Given the description of an element on the screen output the (x, y) to click on. 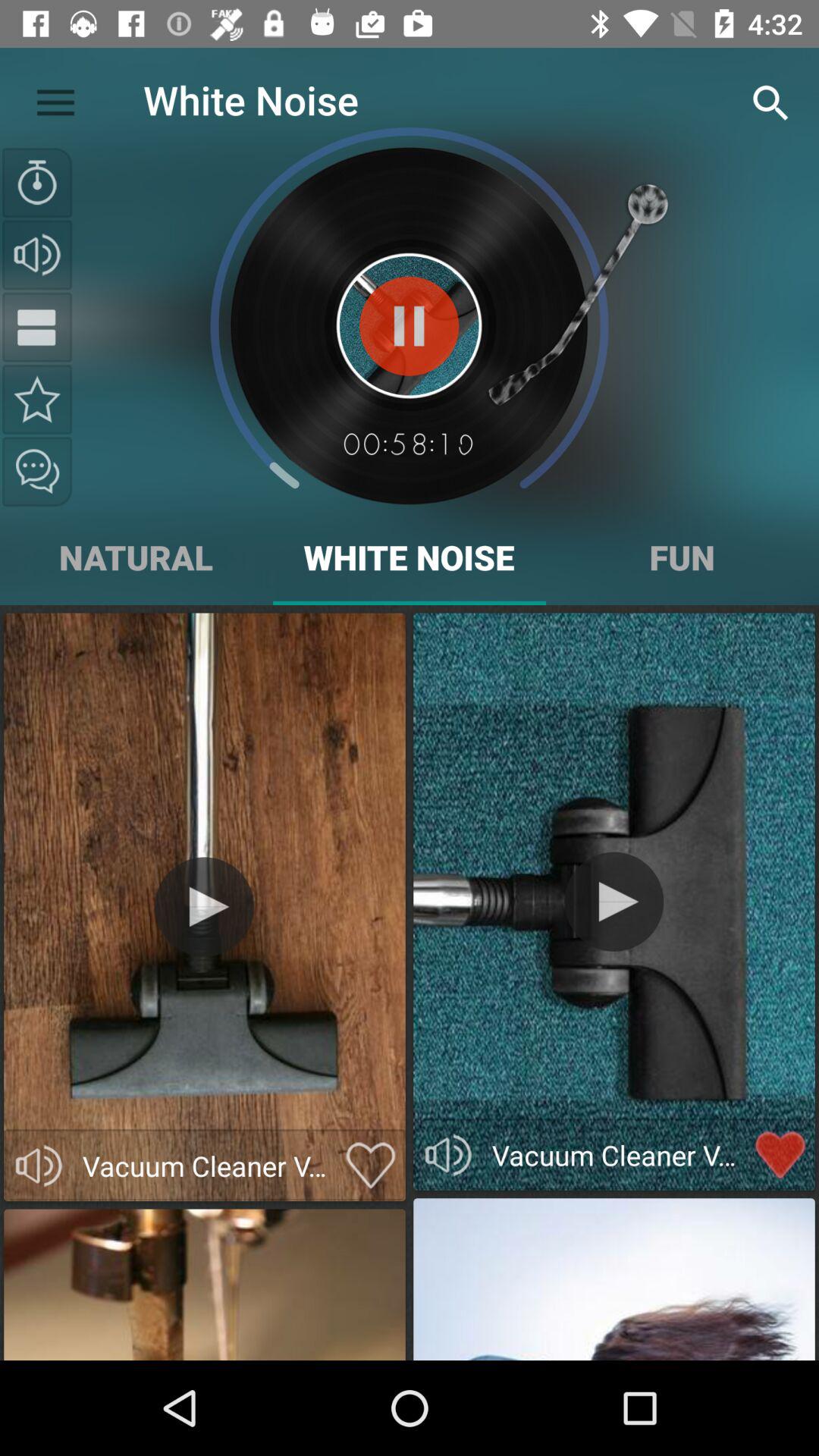
pause (408, 325)
